Given the description of an element on the screen output the (x, y) to click on. 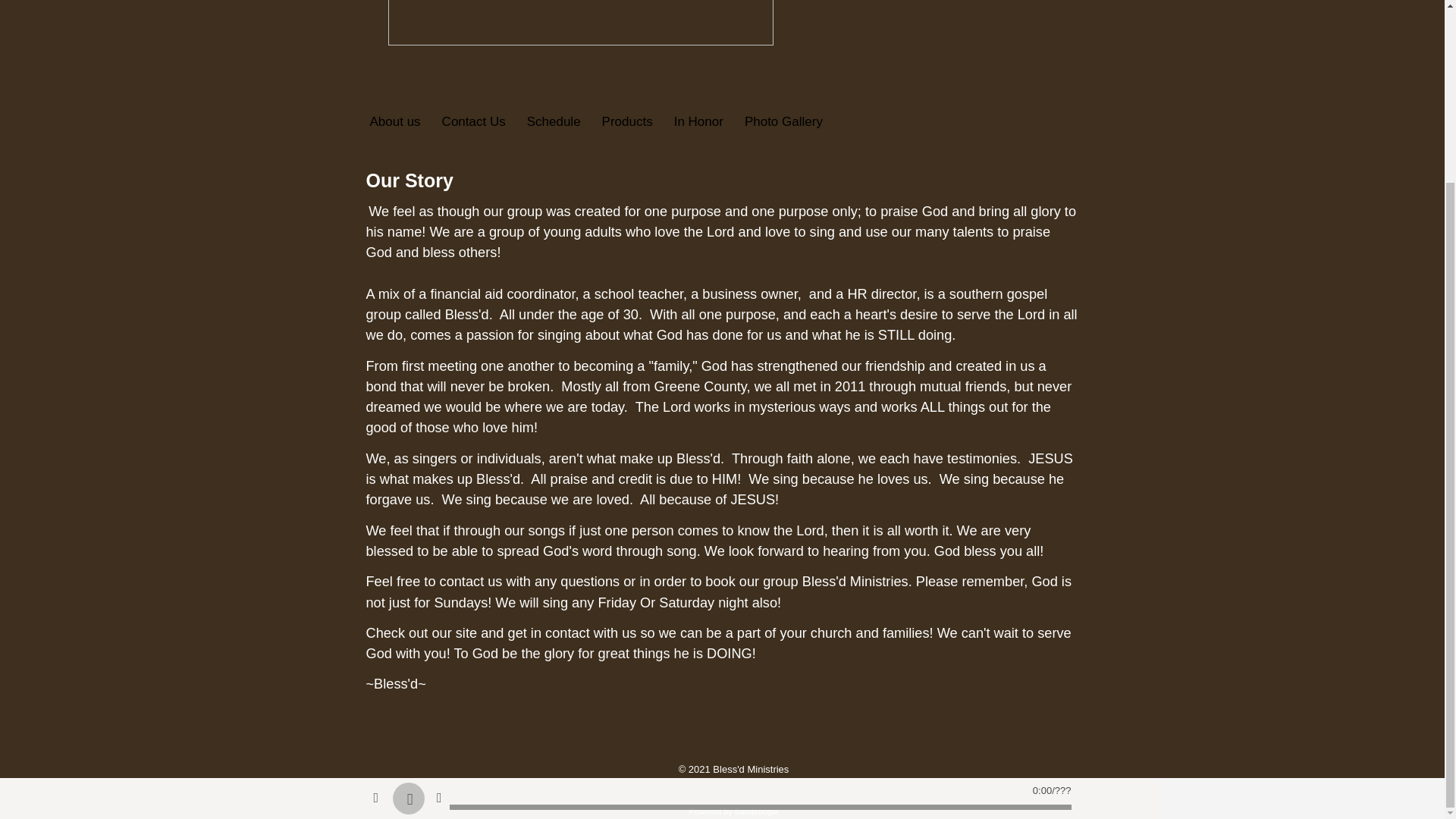
Powered by Bandzoogle (732, 810)
Photo Gallery (777, 121)
In Honor (692, 121)
Schedule (547, 121)
Products (620, 121)
Contact Us (467, 121)
Powered by Bandzoogle (732, 810)
About us (394, 121)
